Given the description of an element on the screen output the (x, y) to click on. 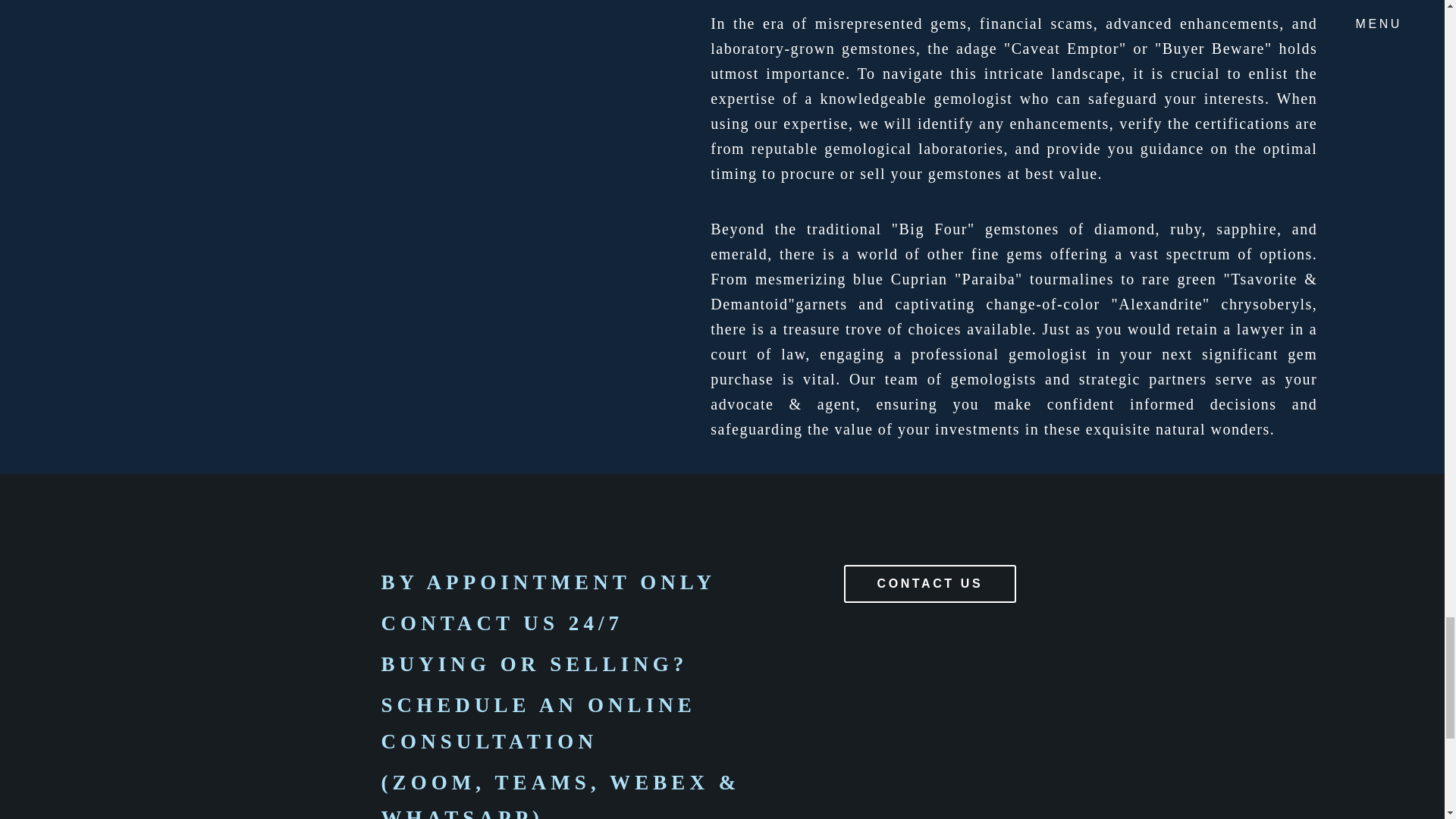
CONTACT US (929, 583)
